Given the description of an element on the screen output the (x, y) to click on. 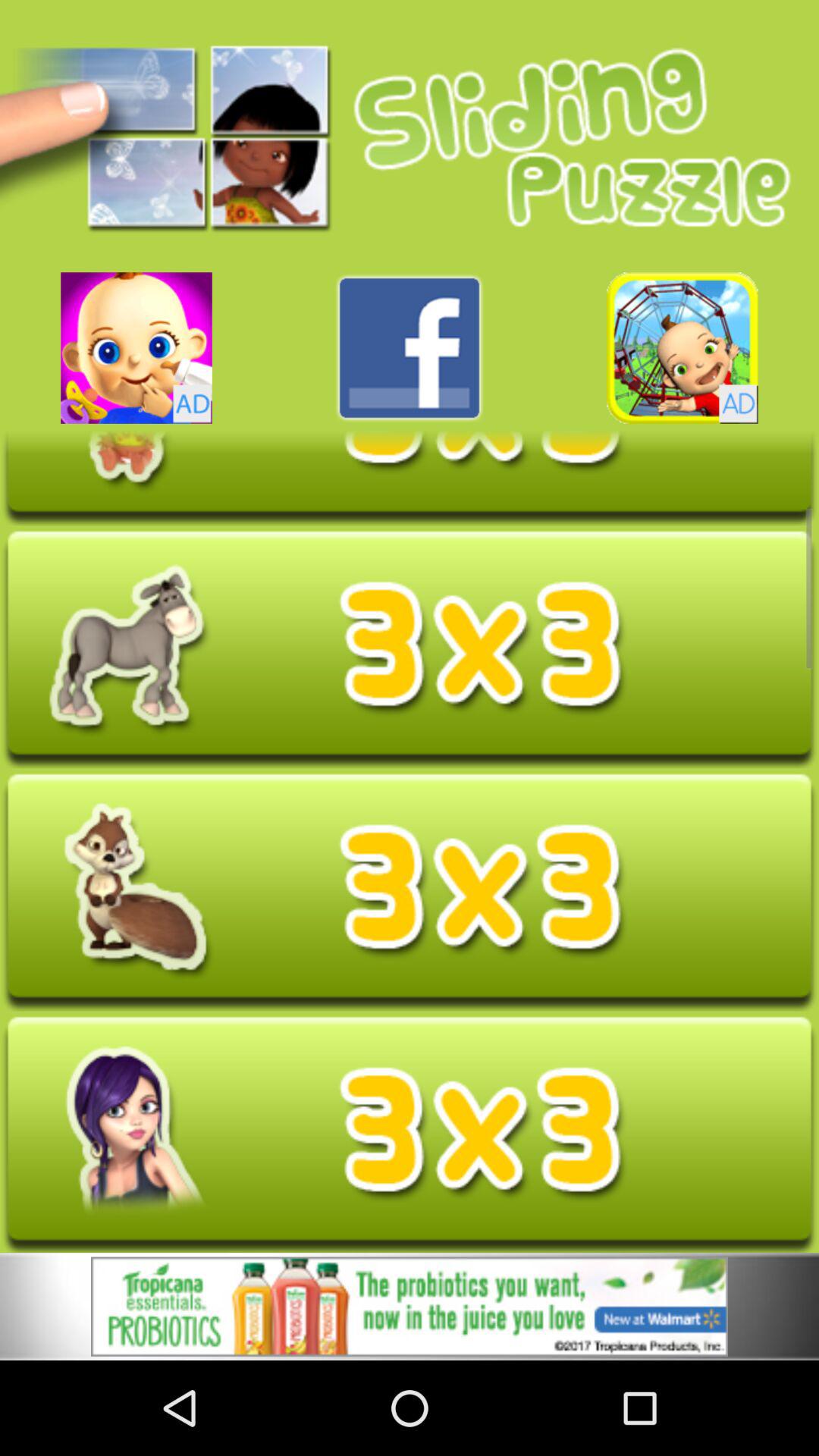
go to level (409, 891)
